Given the description of an element on the screen output the (x, y) to click on. 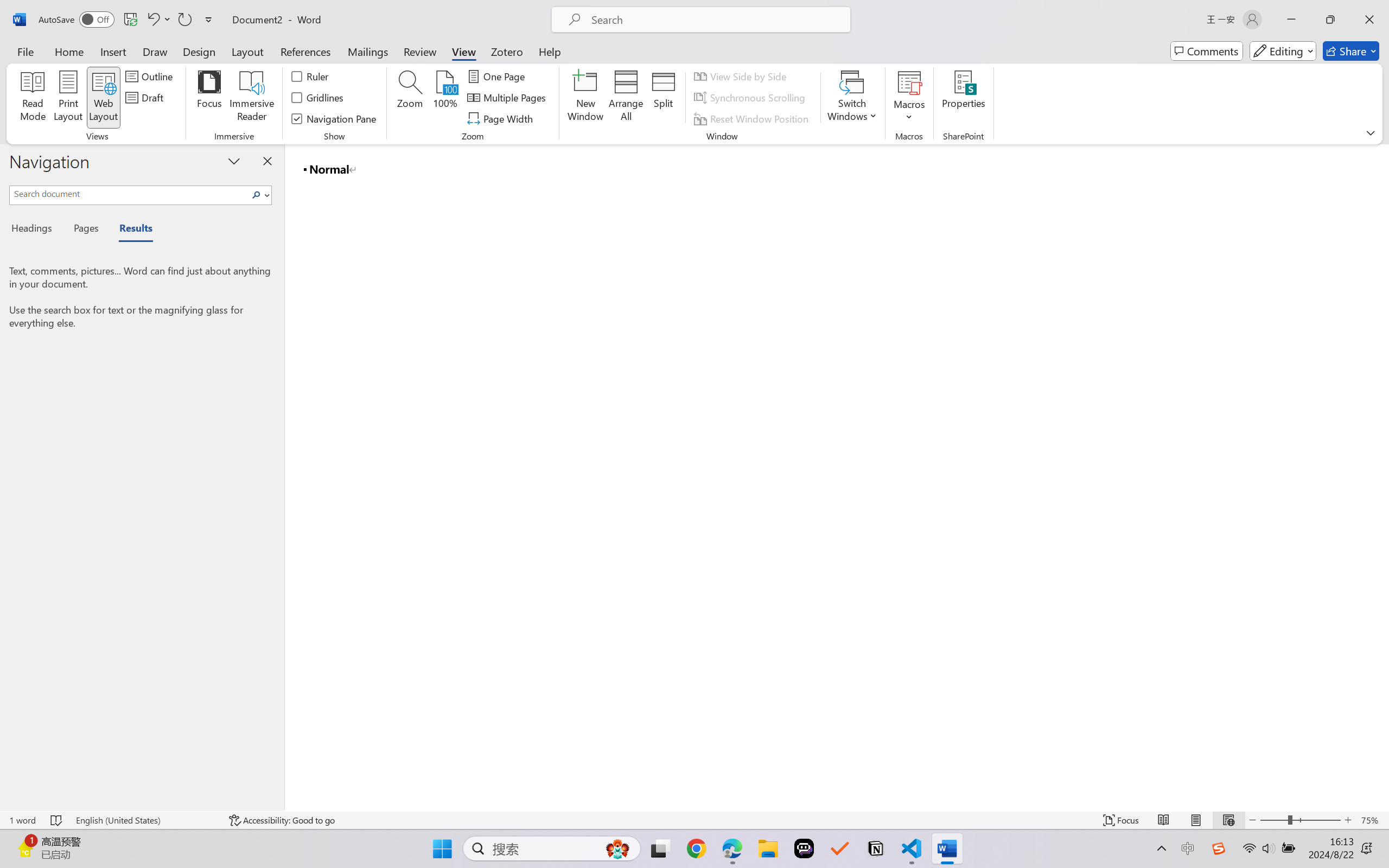
References (306, 51)
AutoSave (76, 19)
Immersive Reader (251, 97)
Results (130, 229)
Task Pane Options (233, 161)
Macros (909, 97)
